Given the description of an element on the screen output the (x, y) to click on. 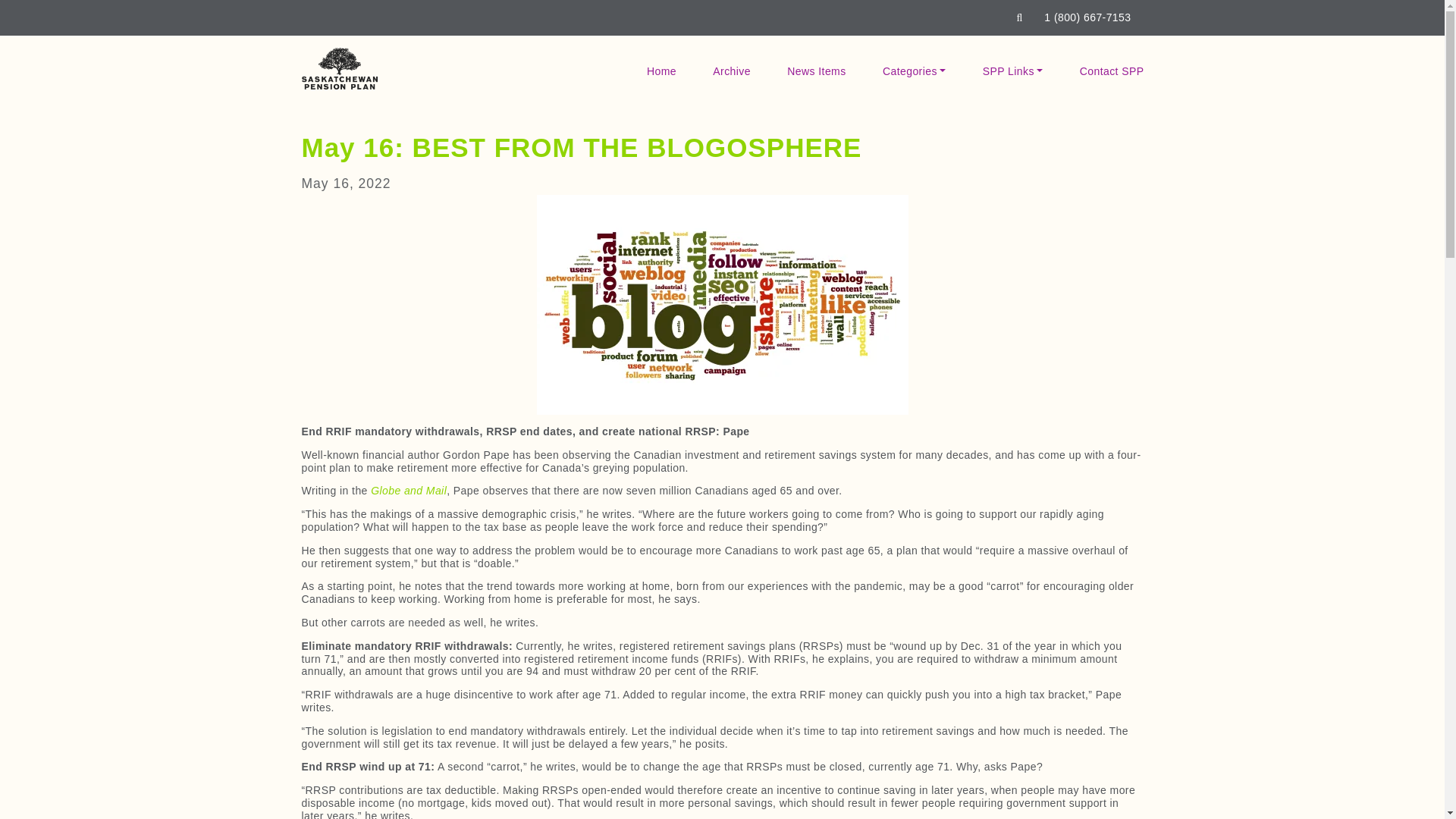
Categories (914, 71)
Home (661, 71)
News Items (816, 71)
SPP Links (1013, 71)
Archive (731, 71)
Contact SPP (1111, 71)
Globe and Mail (408, 490)
